Given the description of an element on the screen output the (x, y) to click on. 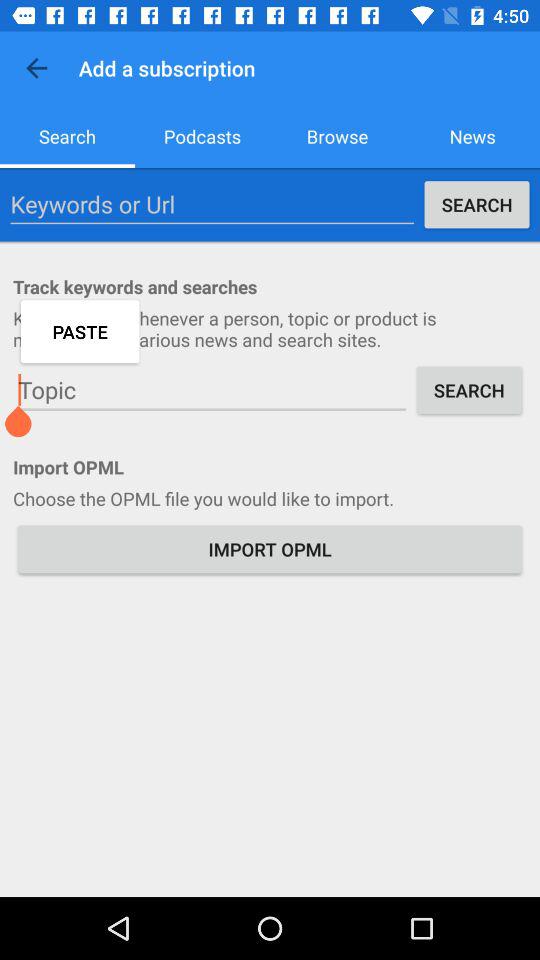
type subject (212, 390)
